Given the description of an element on the screen output the (x, y) to click on. 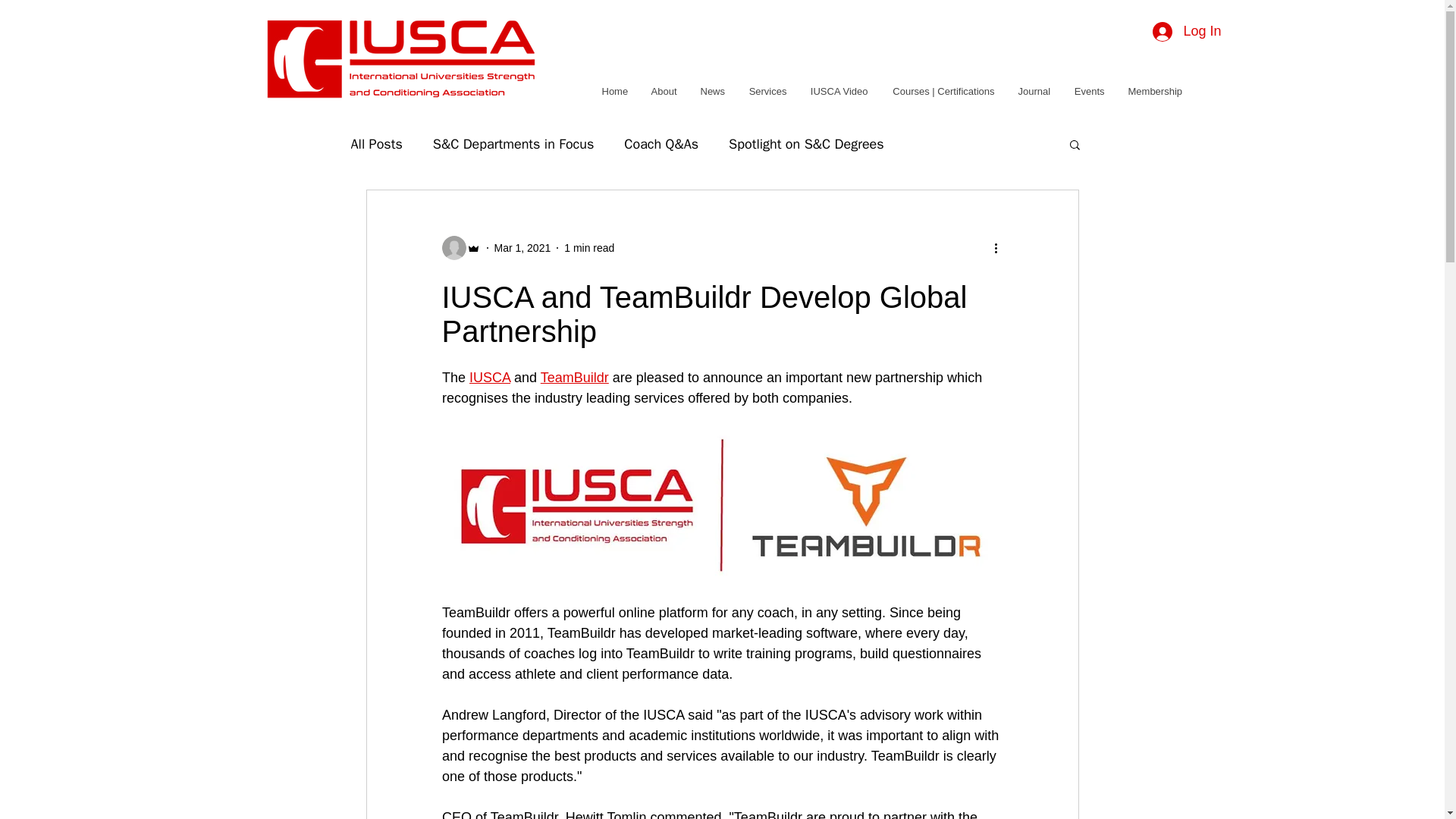
Mar 1, 2021 (523, 246)
Membership (1154, 91)
News (712, 91)
Home (614, 91)
Log In (1186, 31)
All Posts (375, 144)
IUSCA Video (838, 91)
1 min read (589, 246)
IUSCA (489, 377)
Events (1088, 91)
